Given the description of an element on the screen output the (x, y) to click on. 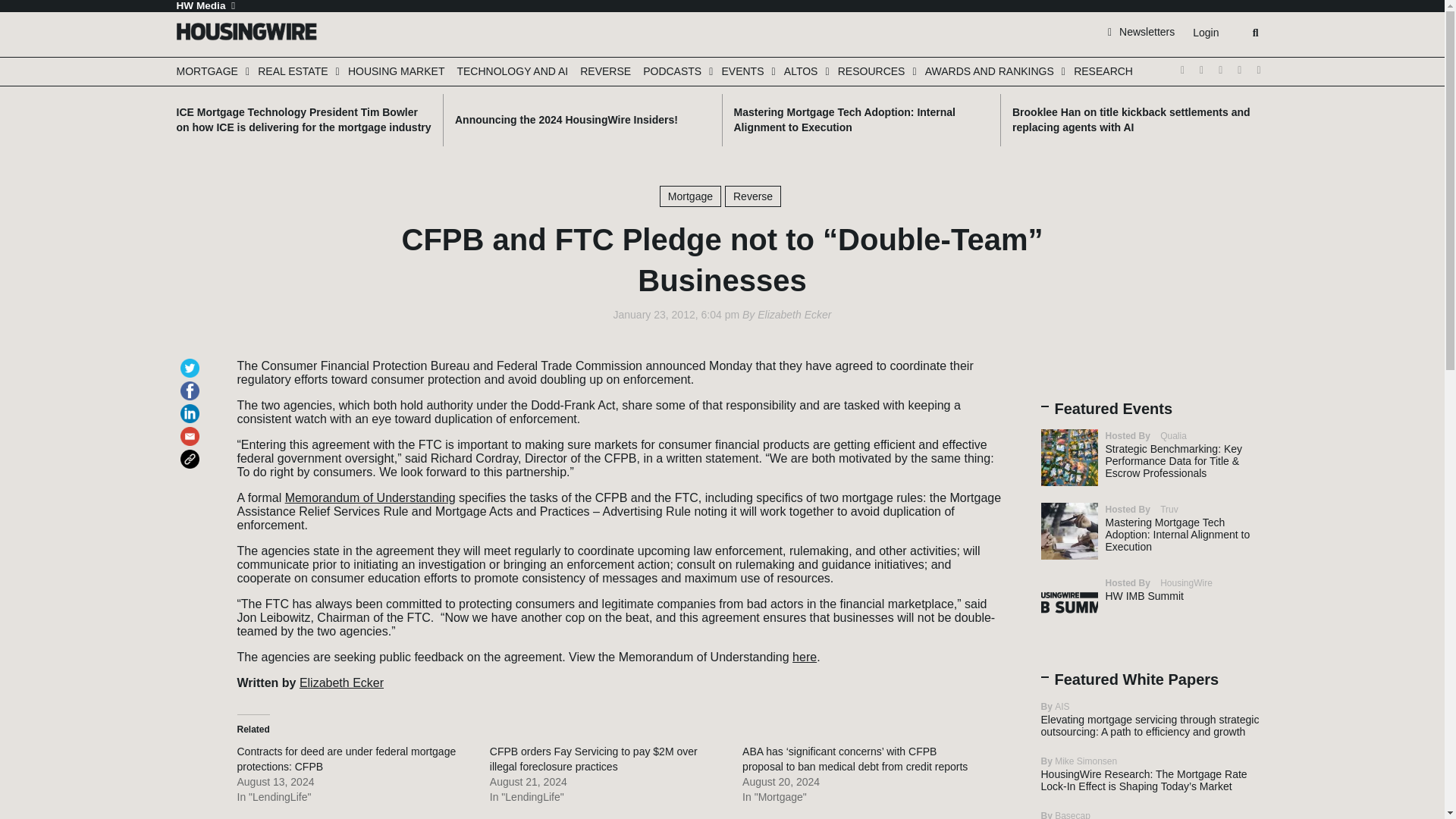
Click to share on Facebook (192, 383)
Click to email a link to a friend (192, 429)
Click to share on LinkedIn (192, 406)
Newsletters (1141, 31)
Click to copy link (192, 452)
Click to share on Twitter (192, 360)
Posts by Elizabeth Ecker (794, 314)
Login (1205, 32)
